Given the description of an element on the screen output the (x, y) to click on. 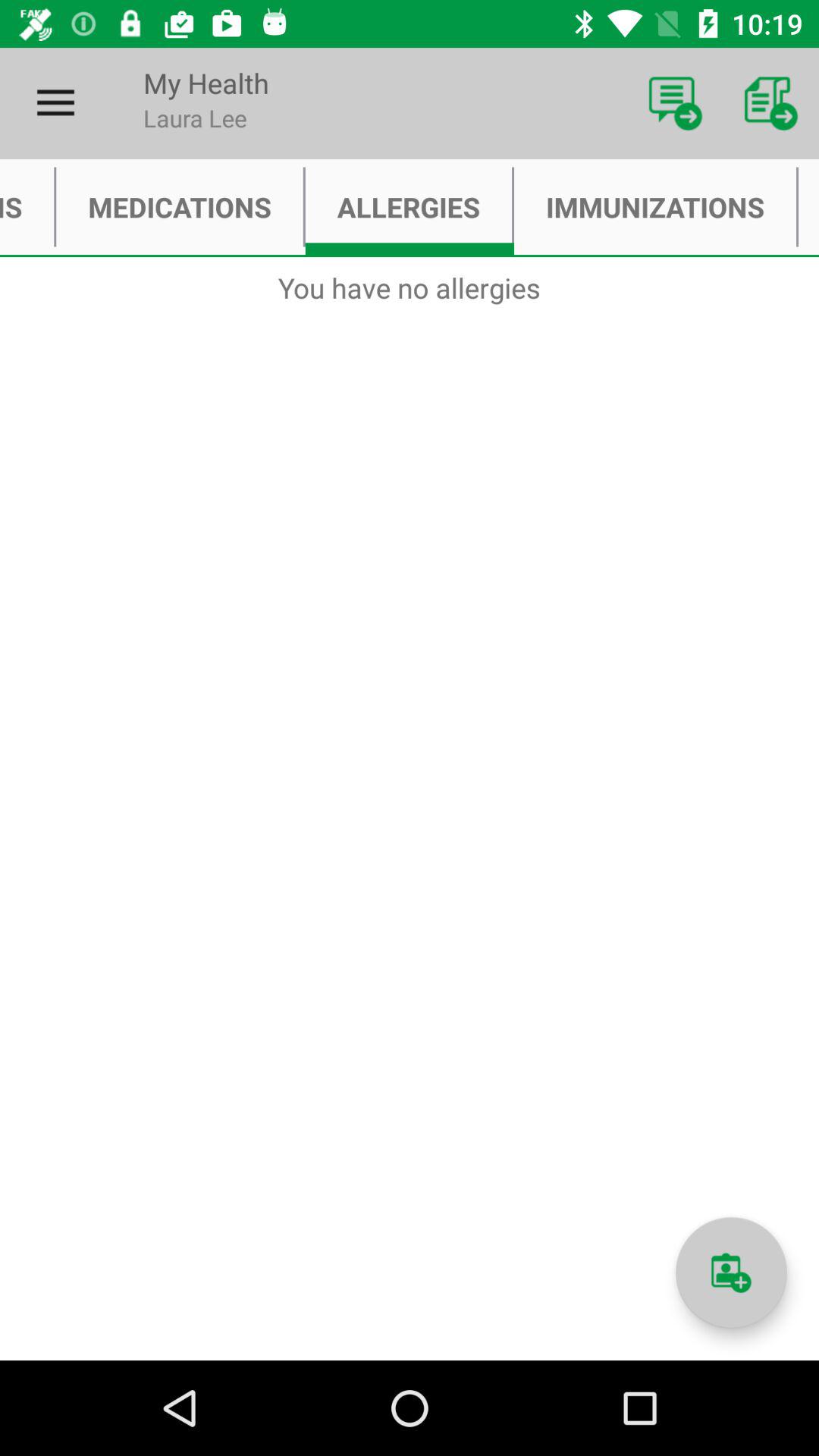
click item above immunizations (771, 103)
